Given the description of an element on the screen output the (x, y) to click on. 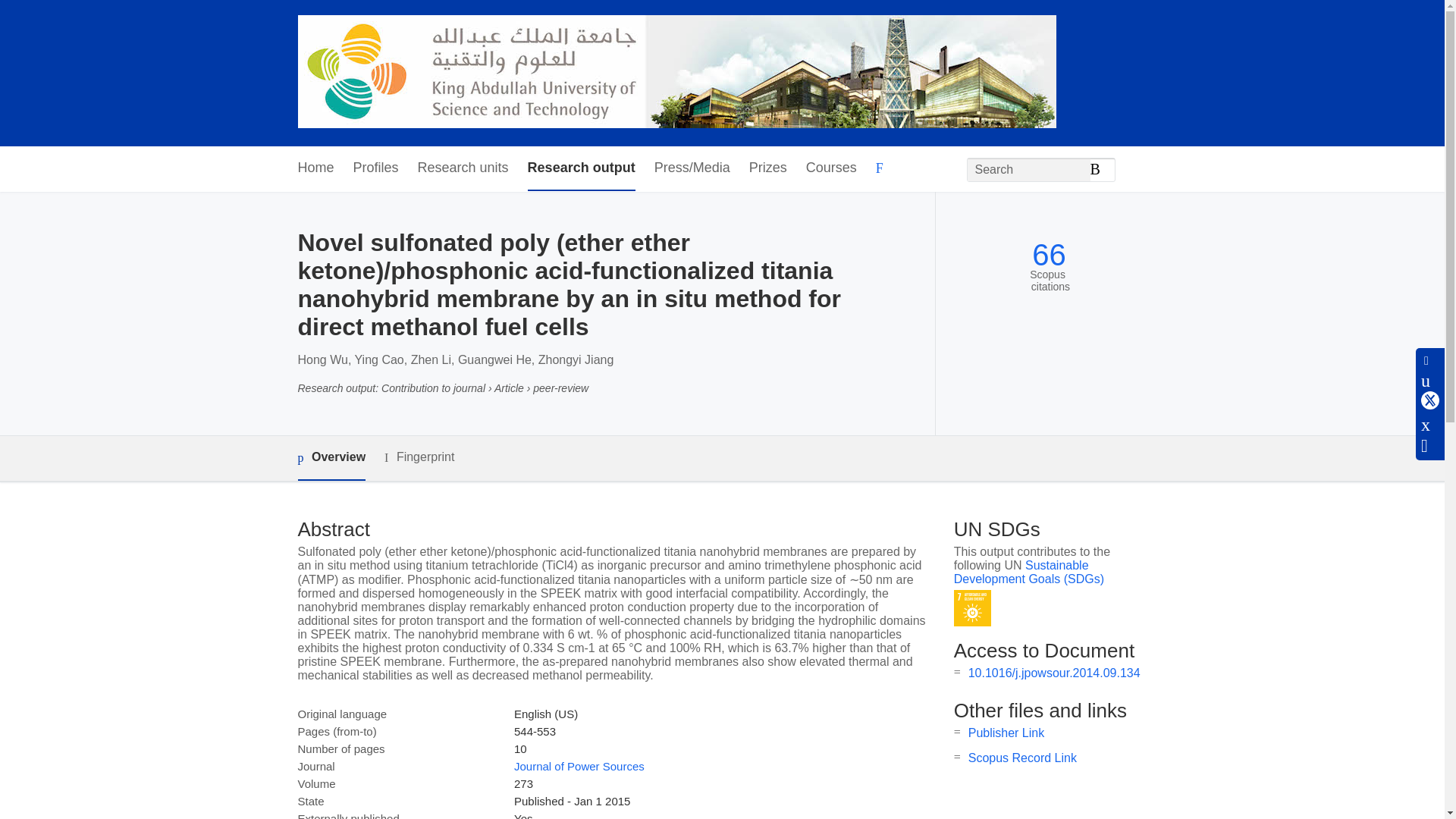
Fingerprint (419, 457)
Overview (331, 457)
Research units (462, 168)
Publisher Link (1006, 732)
KAUST FACULTY PORTAL Home (676, 73)
66 (1048, 254)
SDG 7 - Affordable and Clean Energy (972, 608)
Journal of Power Sources (579, 766)
Profiles (375, 168)
